Given the description of an element on the screen output the (x, y) to click on. 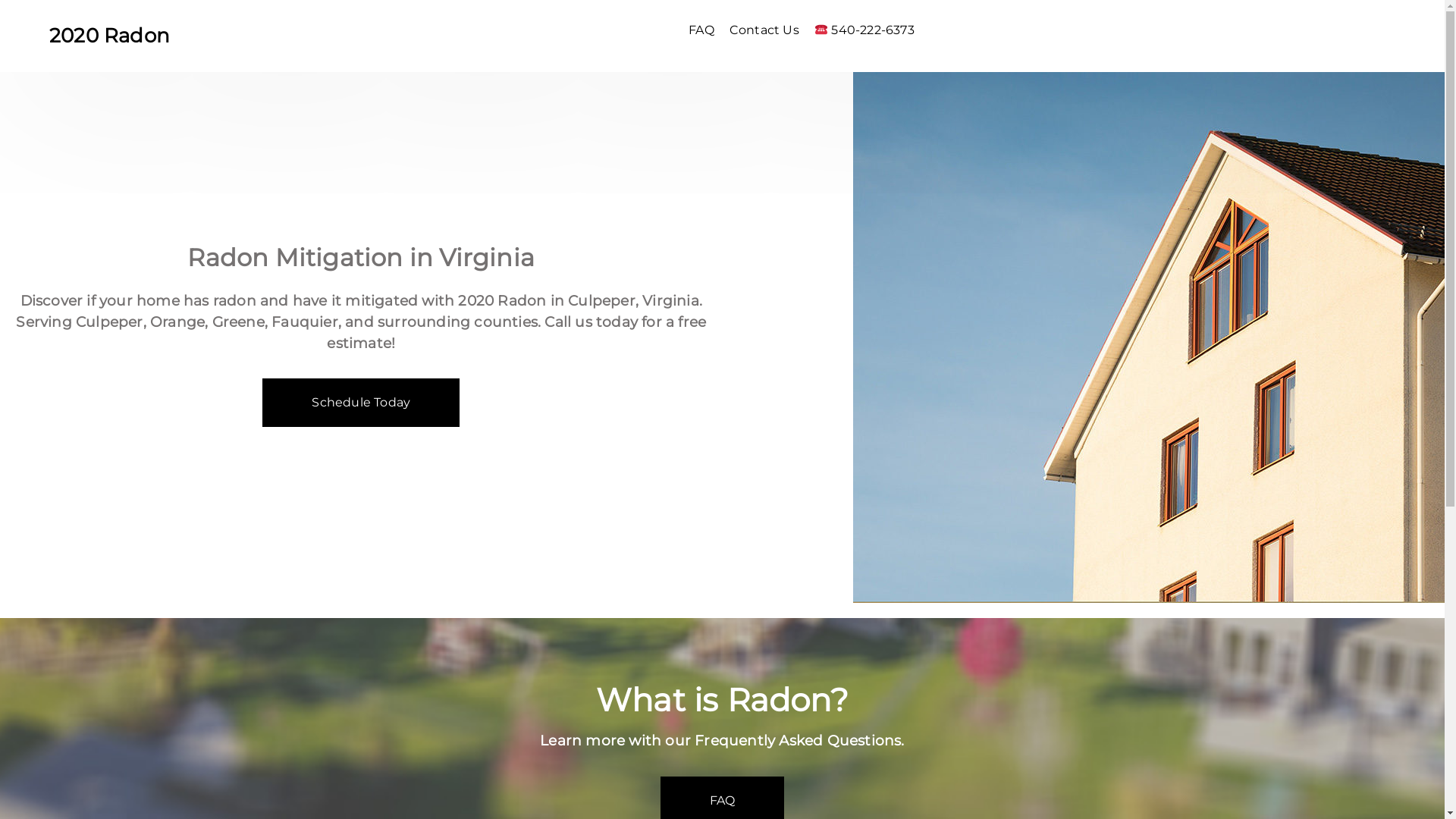
Schedule Today Element type: text (360, 402)
540-222-6373 Element type: text (868, 30)
FAQ Element type: text (705, 30)
2020 Radon Element type: text (113, 35)
Contact Us Element type: text (768, 30)
